Given the description of an element on the screen output the (x, y) to click on. 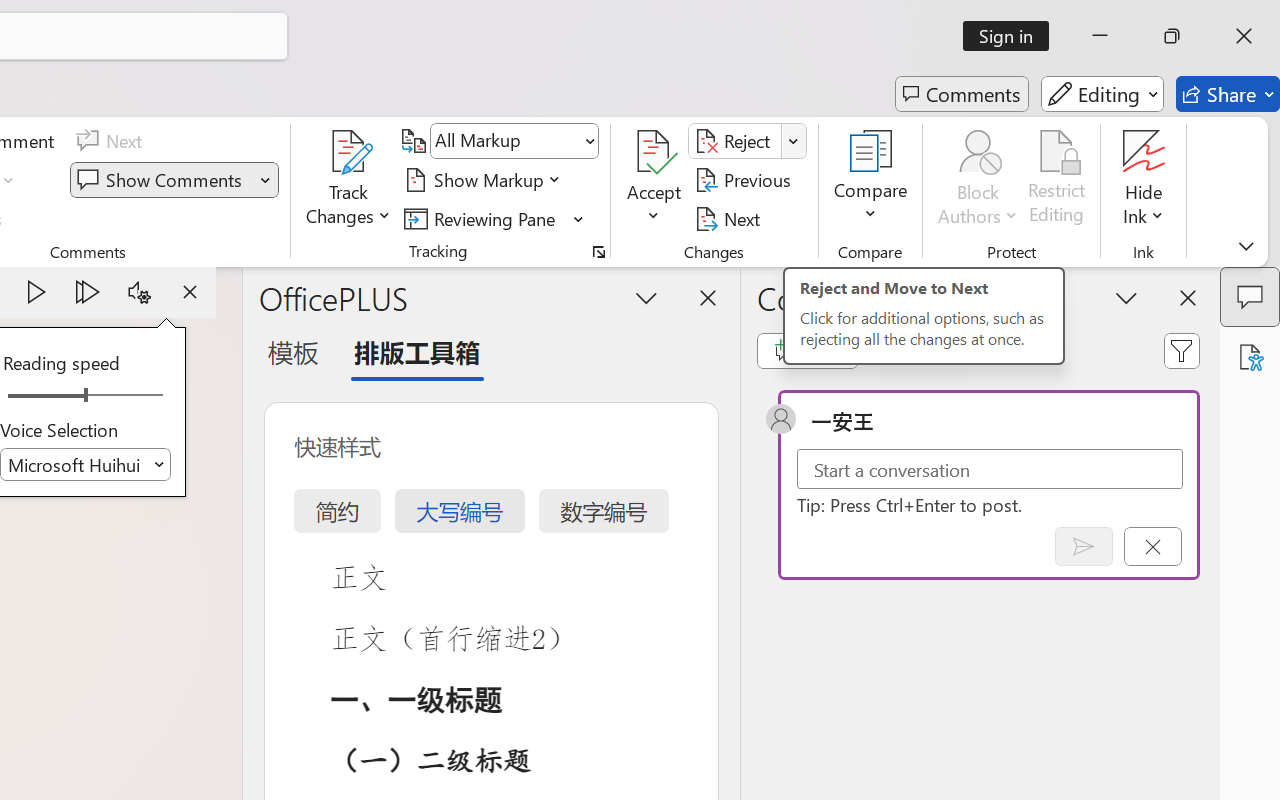
Post comment (Ctrl + Enter) (1083, 546)
Filter (1181, 350)
Reject and Move to Next (735, 141)
Play (36, 292)
Reviewing Pane (494, 218)
Hide Ink (1144, 151)
Previous (745, 179)
